Given the description of an element on the screen output the (x, y) to click on. 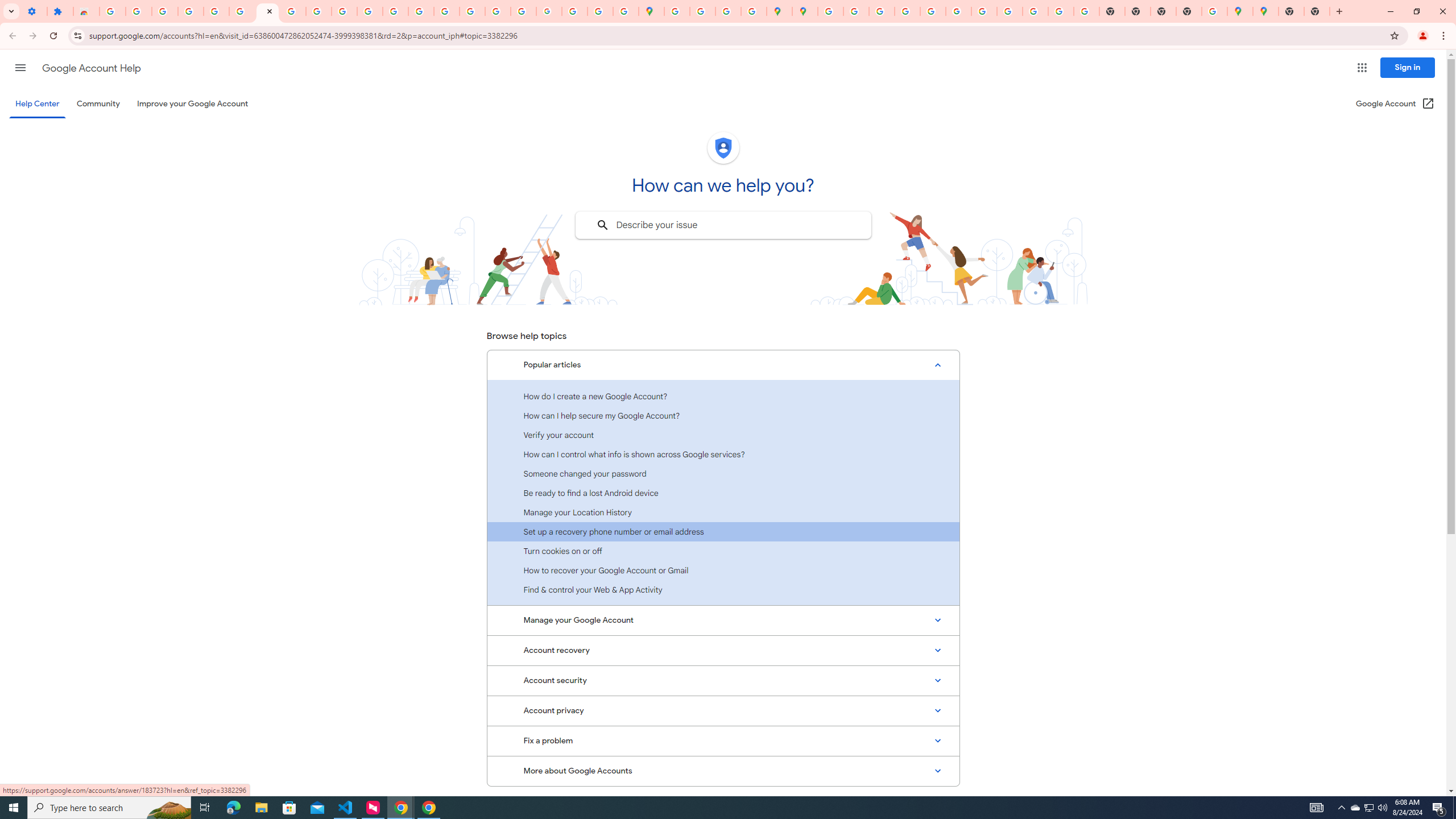
Sign in - Google Accounts (216, 11)
Google Account Help (91, 68)
Create your Google Account (727, 11)
YouTube (344, 11)
Sign in - Google Accounts (112, 11)
Settings - On startup (34, 11)
Privacy Help Center - Policies Help (881, 11)
